Given the description of an element on the screen output the (x, y) to click on. 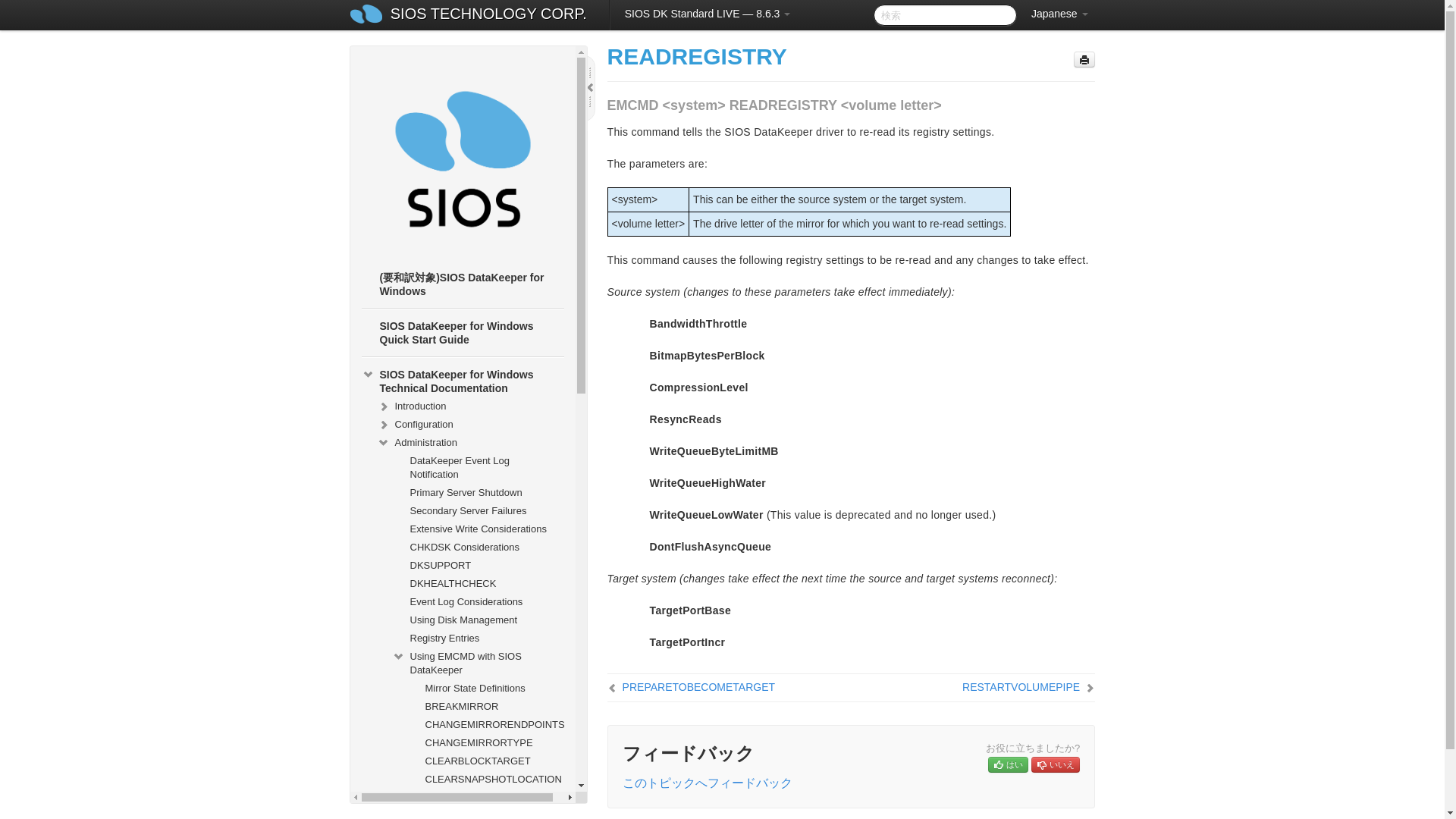
Japanese (1059, 14)
SIOS TECHNOLOGY CORP. (488, 15)
